Given the description of an element on the screen output the (x, y) to click on. 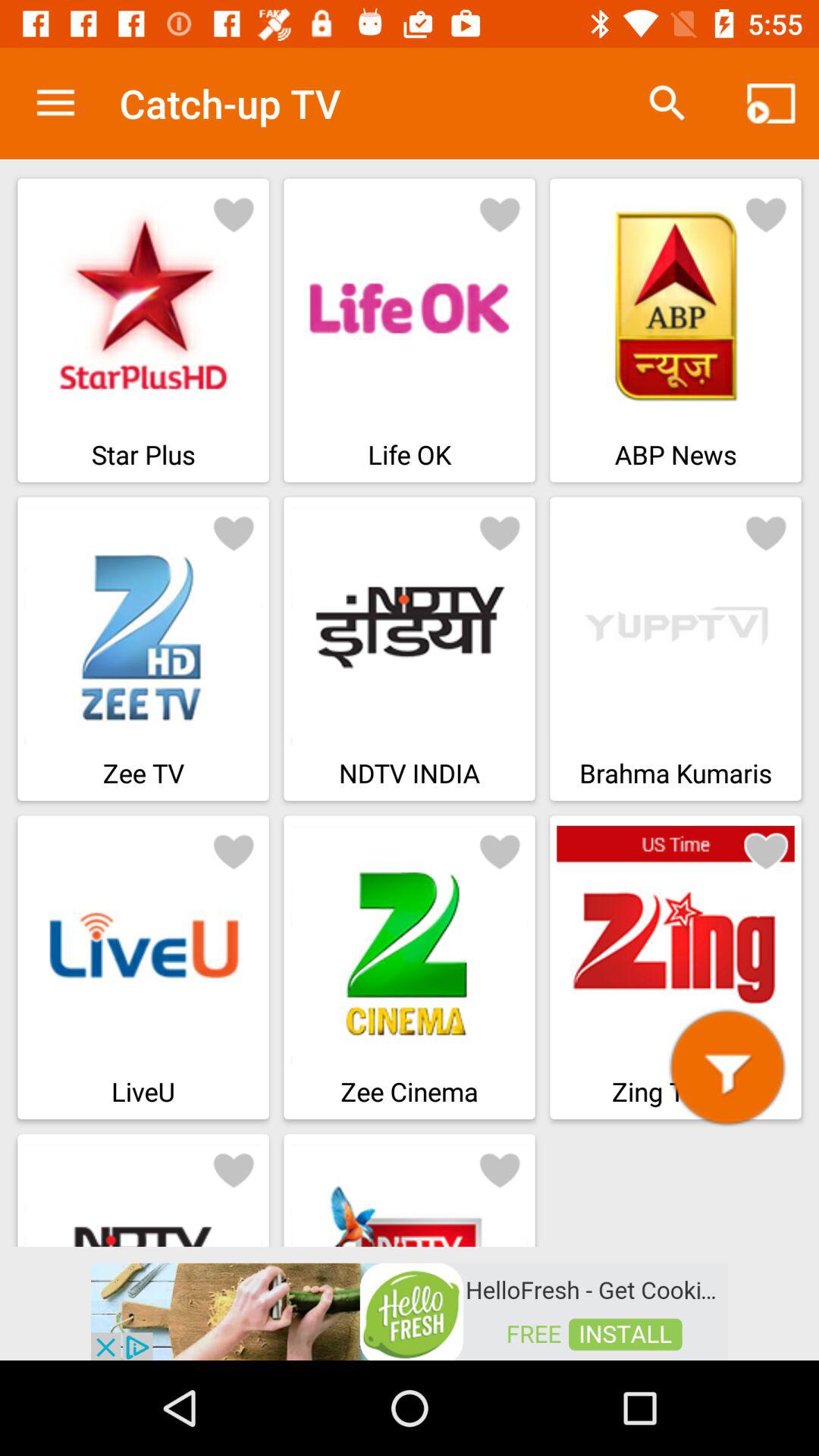
add to favourites (499, 213)
